Given the description of an element on the screen output the (x, y) to click on. 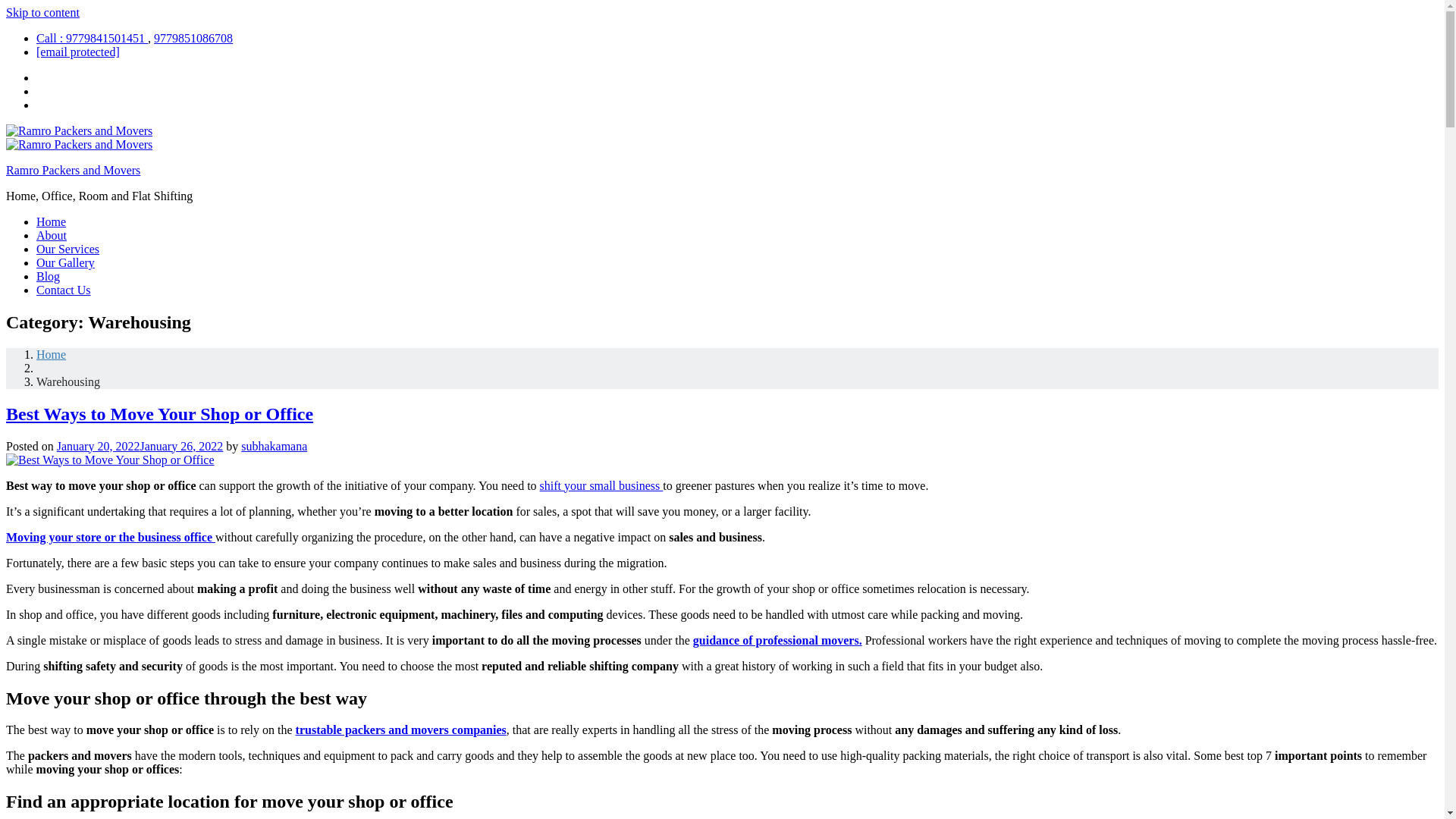
Contact Us (63, 289)
January 20, 2022January 26, 2022 (140, 445)
Warehousing (68, 381)
Skip to content (42, 11)
Our Gallery (65, 262)
guidance of professional movers. (777, 640)
subhakamana (274, 445)
trustable packers and movers companies (400, 729)
shift your small business (601, 485)
Blog (47, 276)
Call : 9779841501451 (92, 38)
Home (50, 354)
9779851086708 (193, 38)
Ramro Packers and Movers (72, 169)
Home (50, 221)
